Given the description of an element on the screen output the (x, y) to click on. 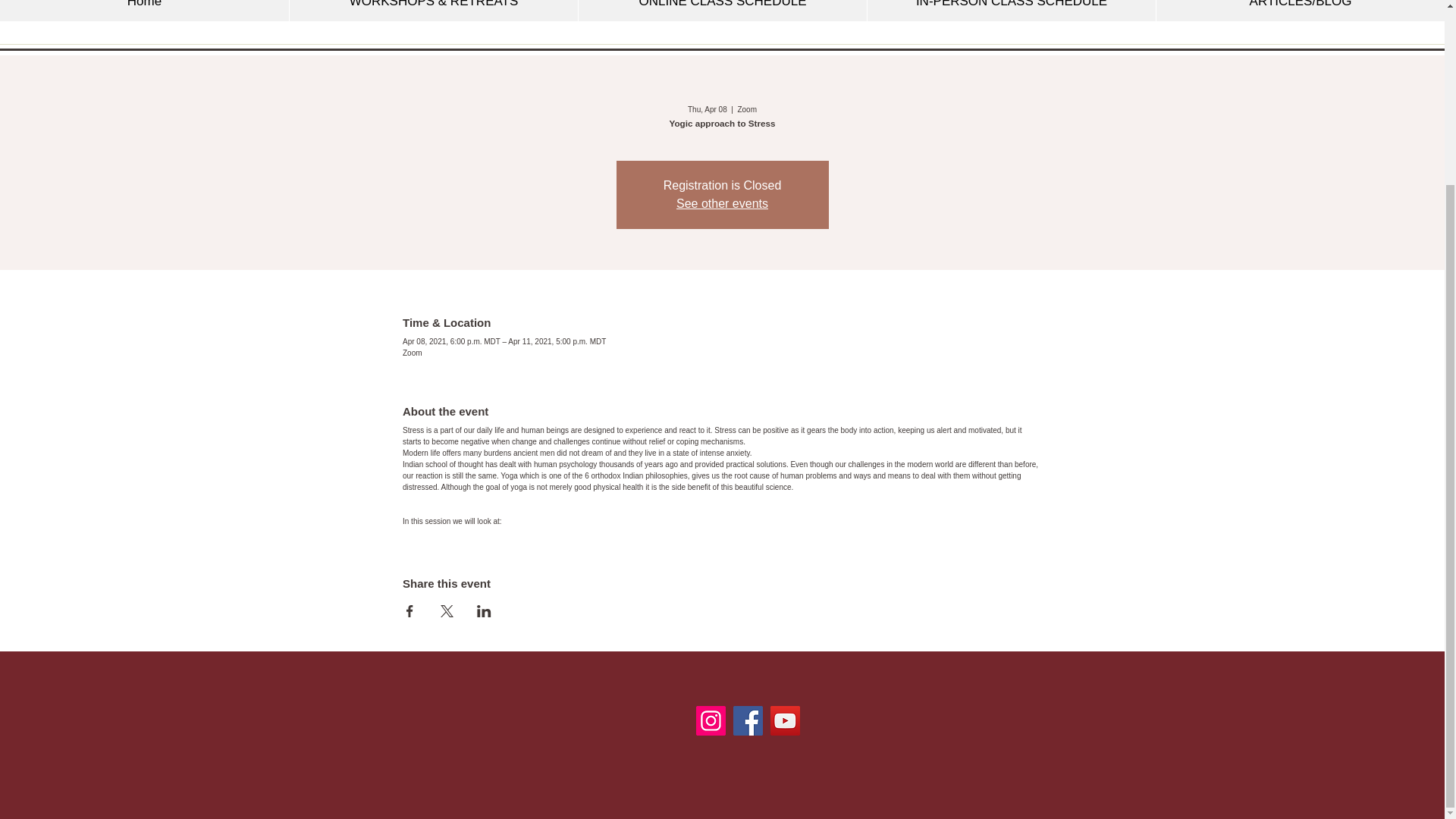
ONLINE CLASS SCHEDULE (722, 10)
Home (144, 10)
See other events (722, 203)
IN-PERSON CLASS SCHEDULE (1011, 10)
